Given the description of an element on the screen output the (x, y) to click on. 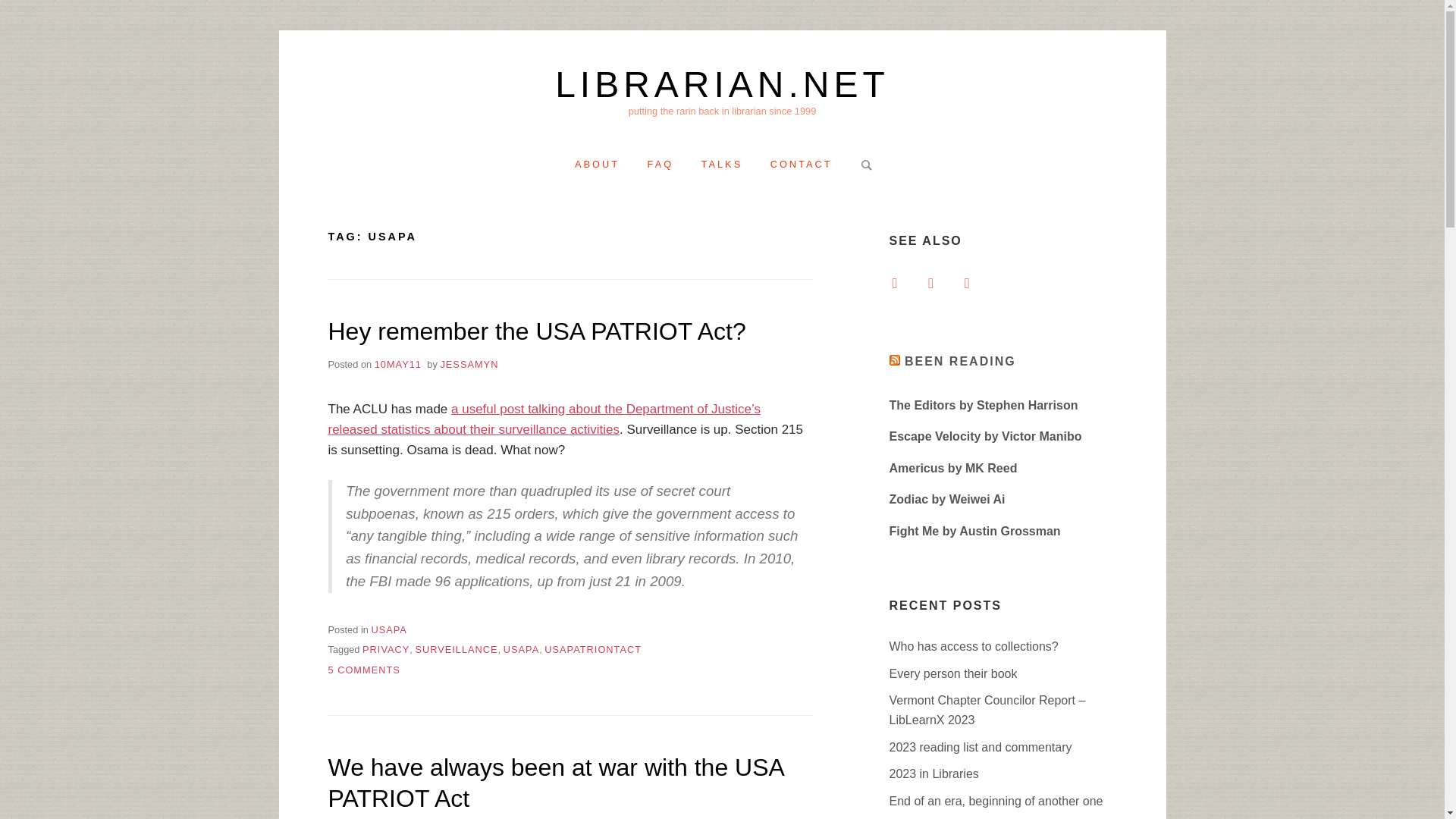
USAPATRIONTACT (362, 669)
contact (593, 649)
We have always been at war with the USA PATRIOT Act (801, 163)
CONTACT (555, 783)
Instagram (801, 163)
about (930, 282)
JESSAMYN (597, 163)
TALKS (468, 364)
USAPA (722, 163)
Hey remember the USA PATRIOT Act? (388, 629)
ABOUT (536, 330)
Skip to content (597, 163)
LIBRARIAN.NET (455, 649)
